Given the description of an element on the screen output the (x, y) to click on. 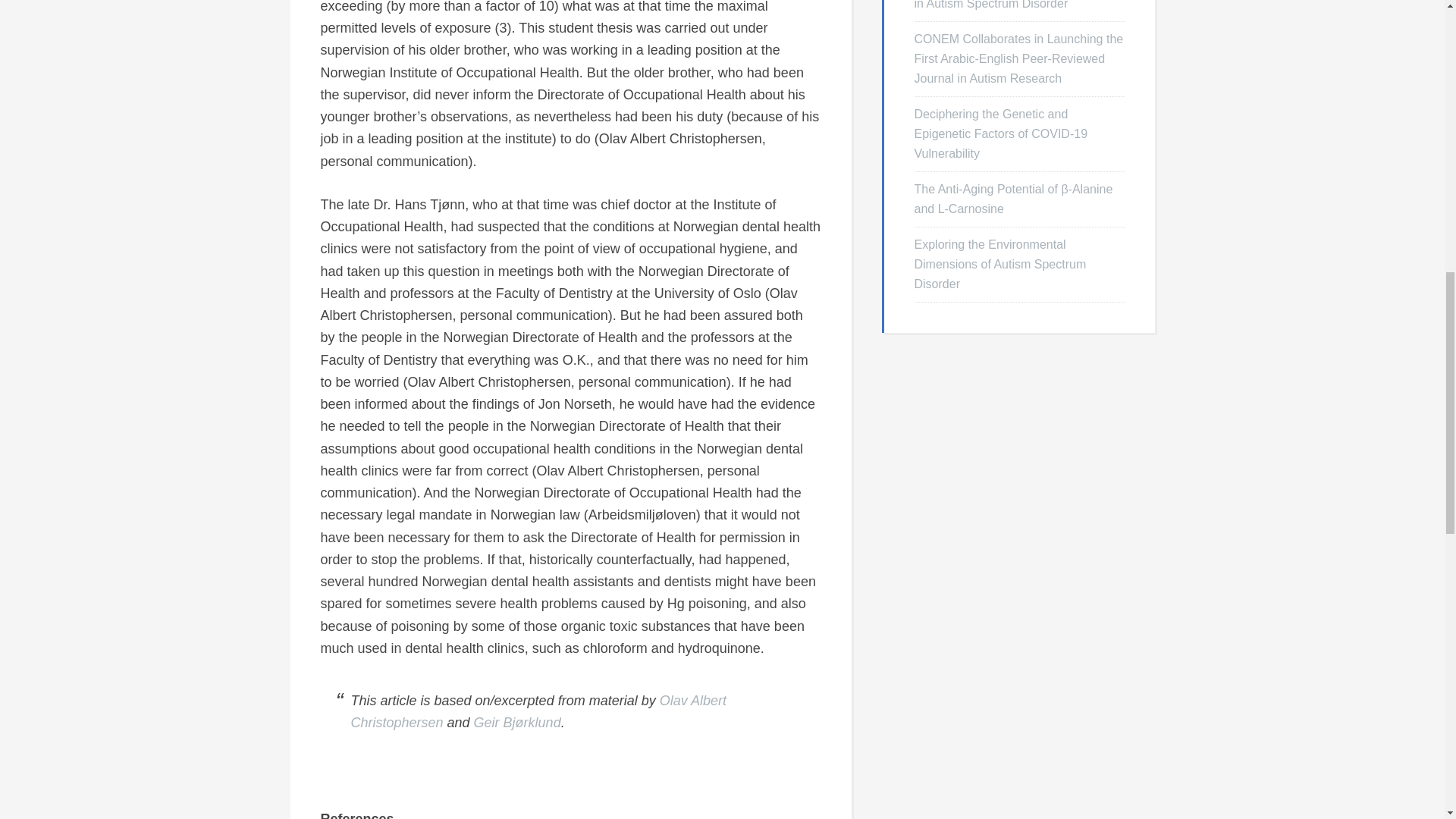
Olav Albert Christophersen (538, 711)
